Given the description of an element on the screen output the (x, y) to click on. 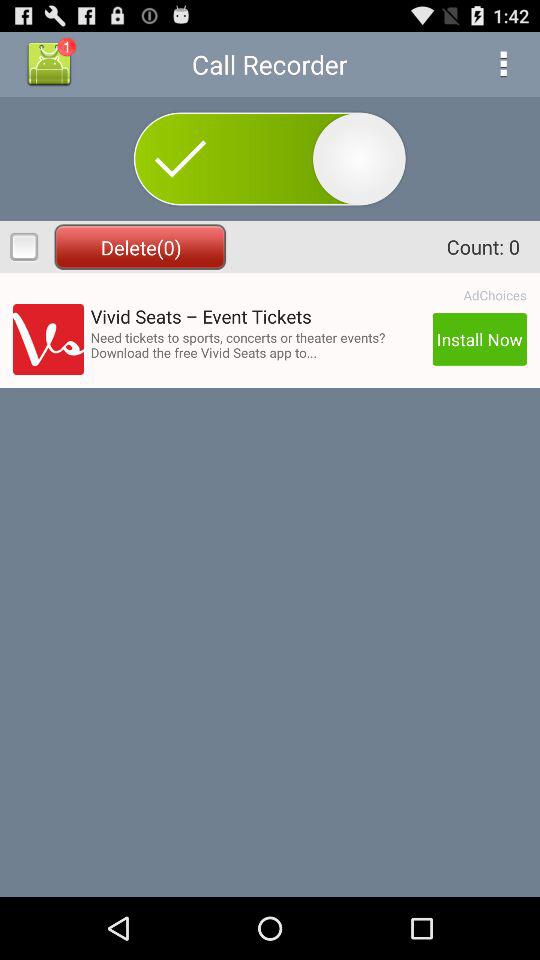
turn on the need tickets to icon (257, 344)
